Given the description of an element on the screen output the (x, y) to click on. 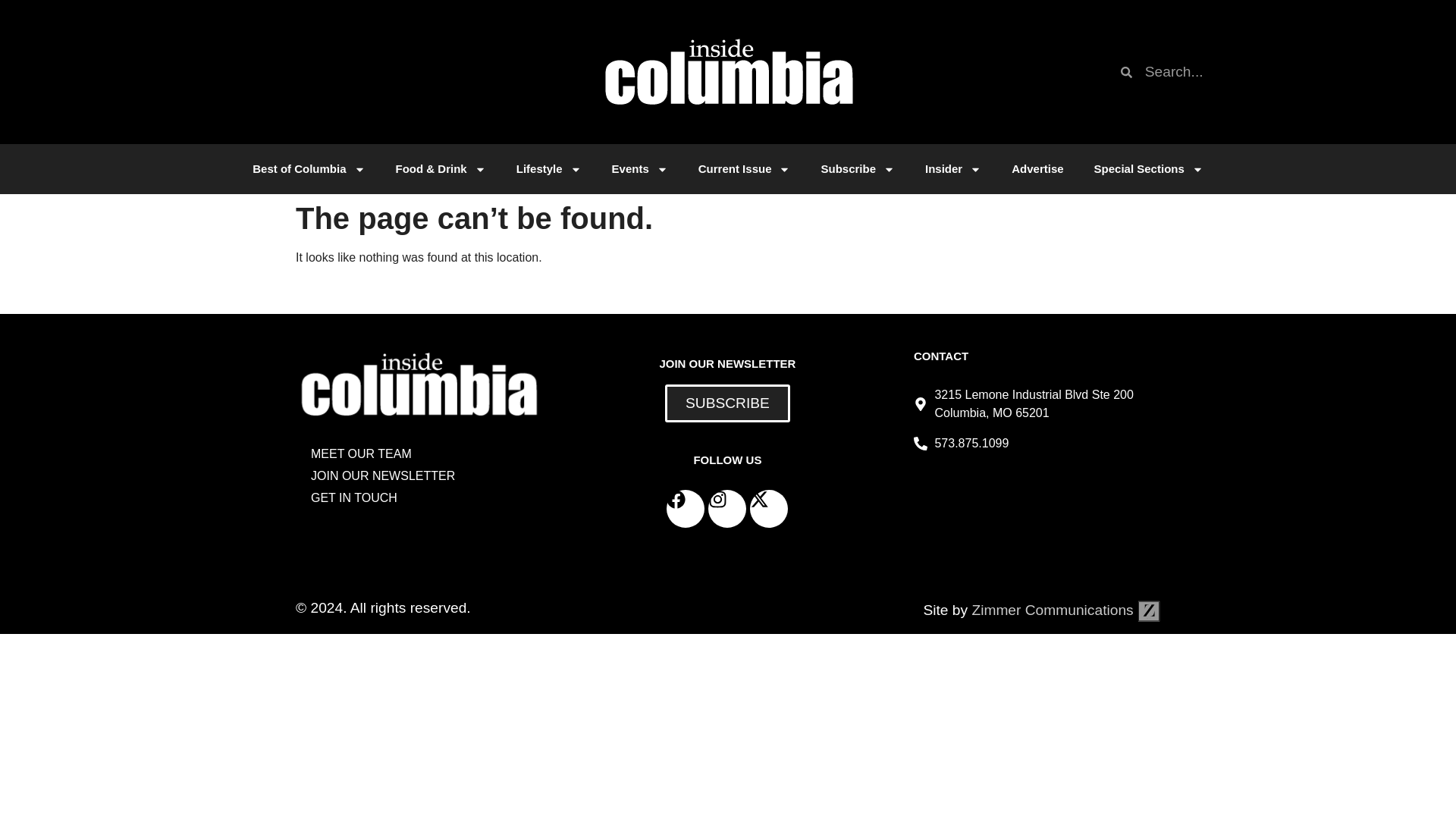
Lifestyle (548, 168)
Current Issue (744, 168)
Events (639, 168)
Insider (952, 168)
Subscribe (857, 168)
Best of Columbia (308, 168)
